Given the description of an element on the screen output the (x, y) to click on. 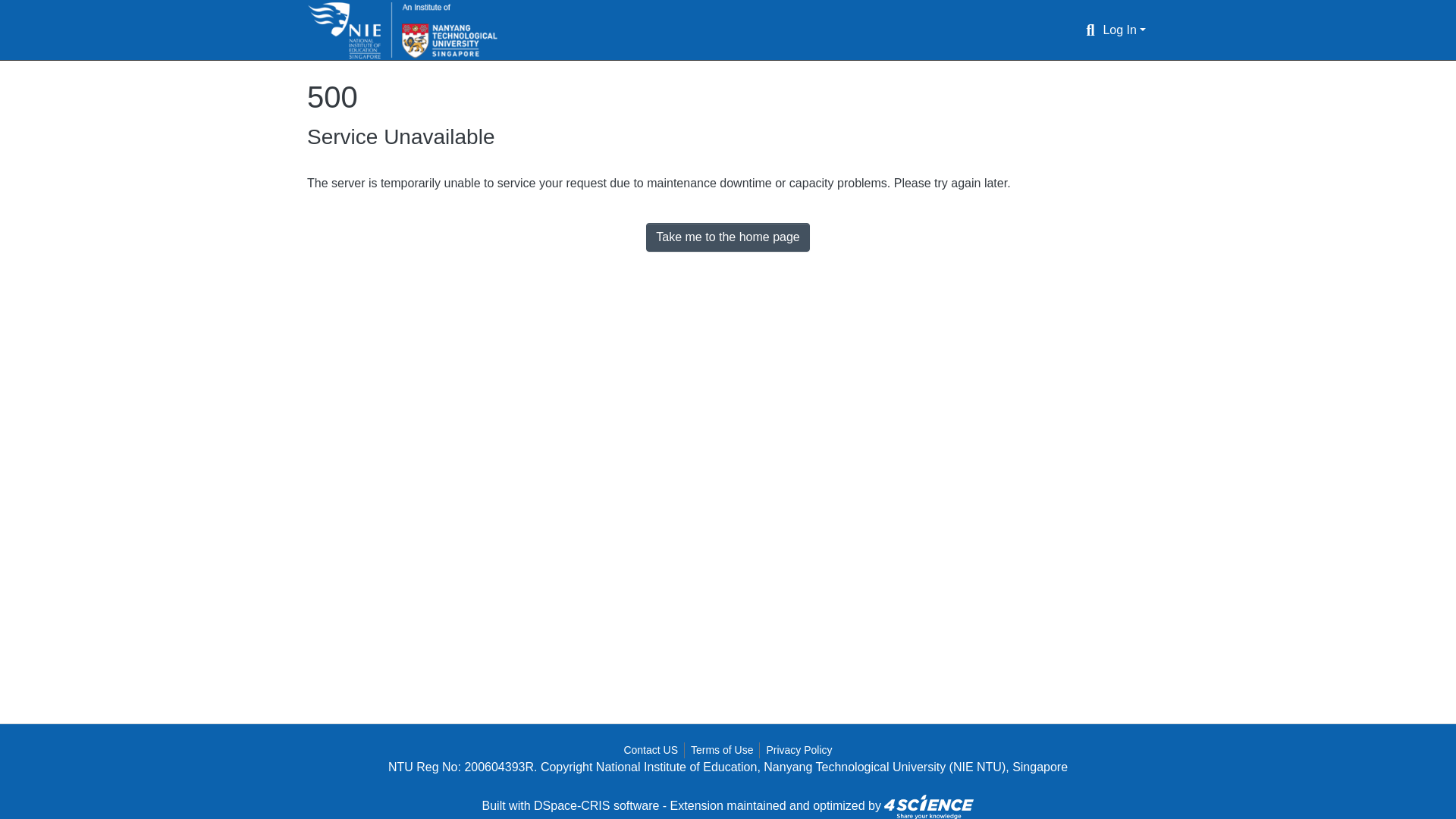
Terms of Use (721, 750)
Search (1089, 30)
Contact US (650, 750)
Privacy Policy (799, 750)
Log In (1123, 29)
Take me to the home page (727, 236)
DSpace-CRIS software (596, 805)
